Given the description of an element on the screen output the (x, y) to click on. 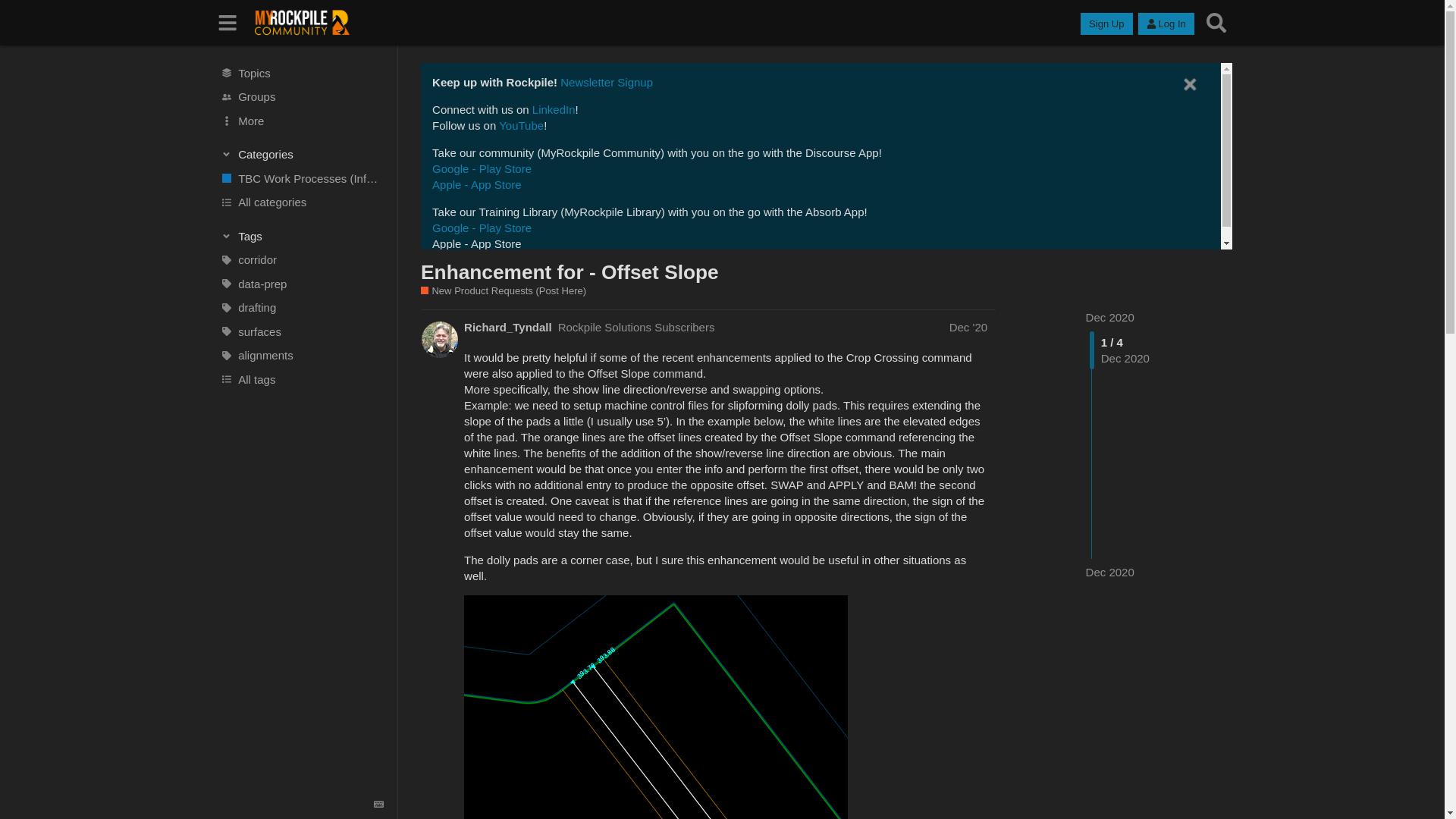
LinkedIn (553, 109)
Post date (968, 327)
All categories (301, 202)
data-prep (301, 283)
Google - Play Store (481, 168)
List of available user groups (301, 96)
Tags (301, 235)
Sign Up (1106, 24)
Toggle section (301, 235)
Dec 2020 (1110, 317)
